Given the description of an element on the screen output the (x, y) to click on. 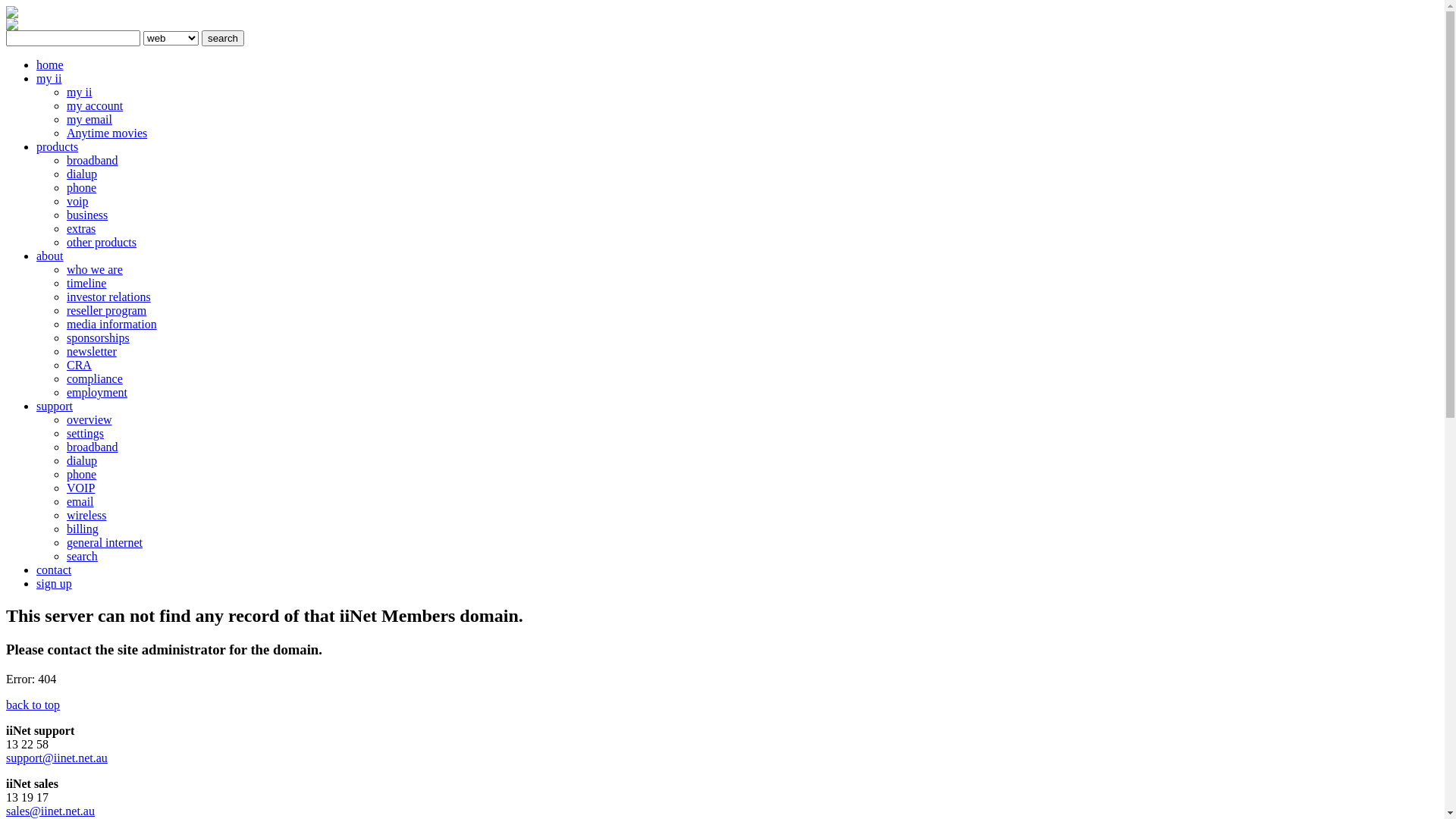
my ii Element type: text (78, 91)
sign up Element type: text (54, 583)
sales@iinet.net.au Element type: text (50, 810)
other products Element type: text (101, 241)
timeline Element type: text (86, 282)
media information Element type: text (111, 323)
sponsorships Element type: text (97, 337)
broadband Element type: text (92, 446)
my ii Element type: text (48, 78)
wireless Element type: text (86, 514)
general internet Element type: text (104, 542)
about Element type: text (49, 255)
settings Element type: text (84, 432)
investor relations Element type: text (108, 296)
support Element type: text (54, 405)
home Element type: text (49, 64)
business Element type: text (86, 214)
Anytime movies Element type: text (106, 132)
search Element type: text (81, 555)
billing Element type: text (82, 528)
support@iinet.net.au Element type: text (56, 757)
who we are Element type: text (94, 269)
phone Element type: text (81, 187)
broadband Element type: text (92, 159)
products Element type: text (57, 146)
newsletter Element type: text (91, 351)
back to top Element type: text (32, 704)
compliance Element type: text (94, 378)
overview Element type: text (89, 419)
reseller program Element type: text (106, 310)
voip Element type: text (76, 200)
email Element type: text (80, 501)
my account Element type: text (94, 105)
contact Element type: text (53, 569)
CRA Element type: text (78, 364)
phone Element type: text (81, 473)
search Element type: text (222, 38)
employment Element type: text (96, 391)
extras Element type: text (80, 228)
dialup Element type: text (81, 460)
VOIP Element type: text (80, 487)
dialup Element type: text (81, 173)
my email Element type: text (89, 118)
